Given the description of an element on the screen output the (x, y) to click on. 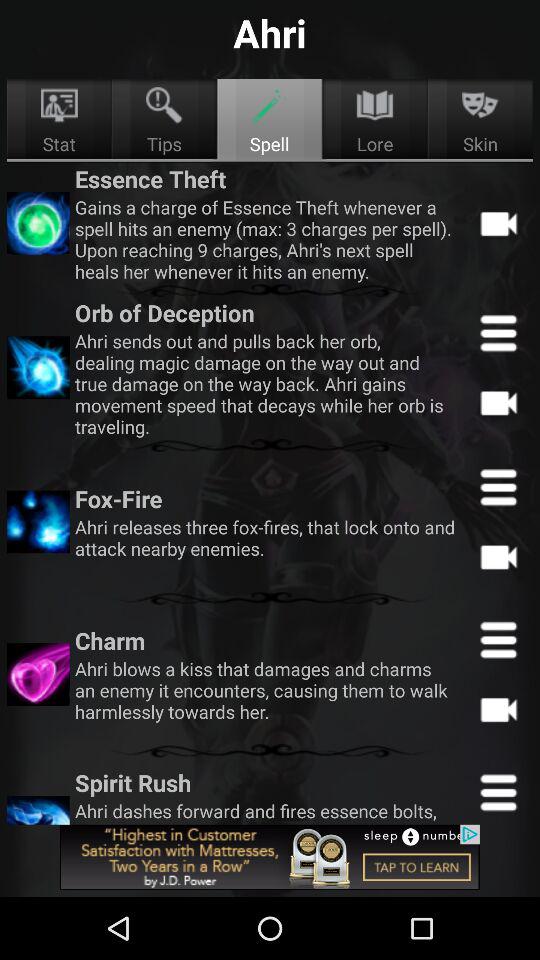
open menu (498, 790)
